Given the description of an element on the screen output the (x, y) to click on. 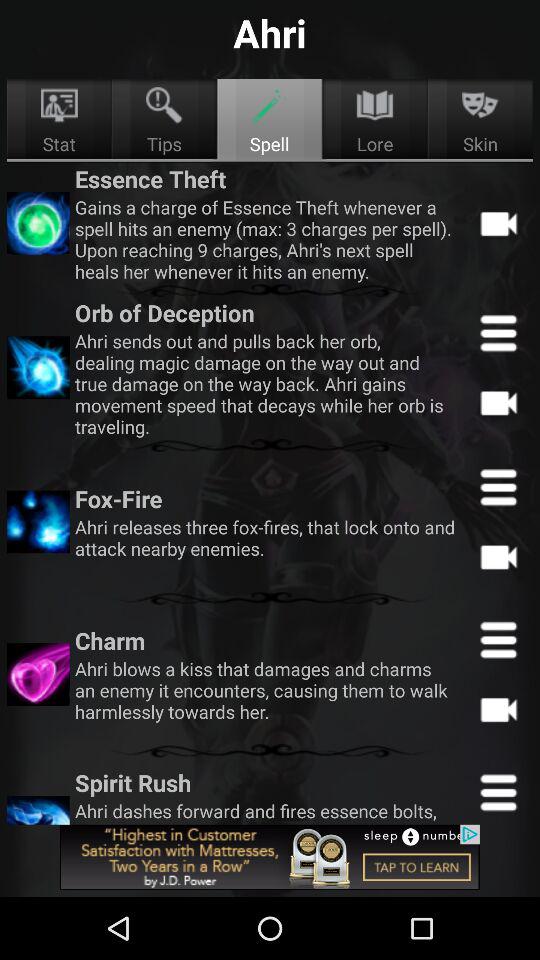
open menu (498, 790)
